Given the description of an element on the screen output the (x, y) to click on. 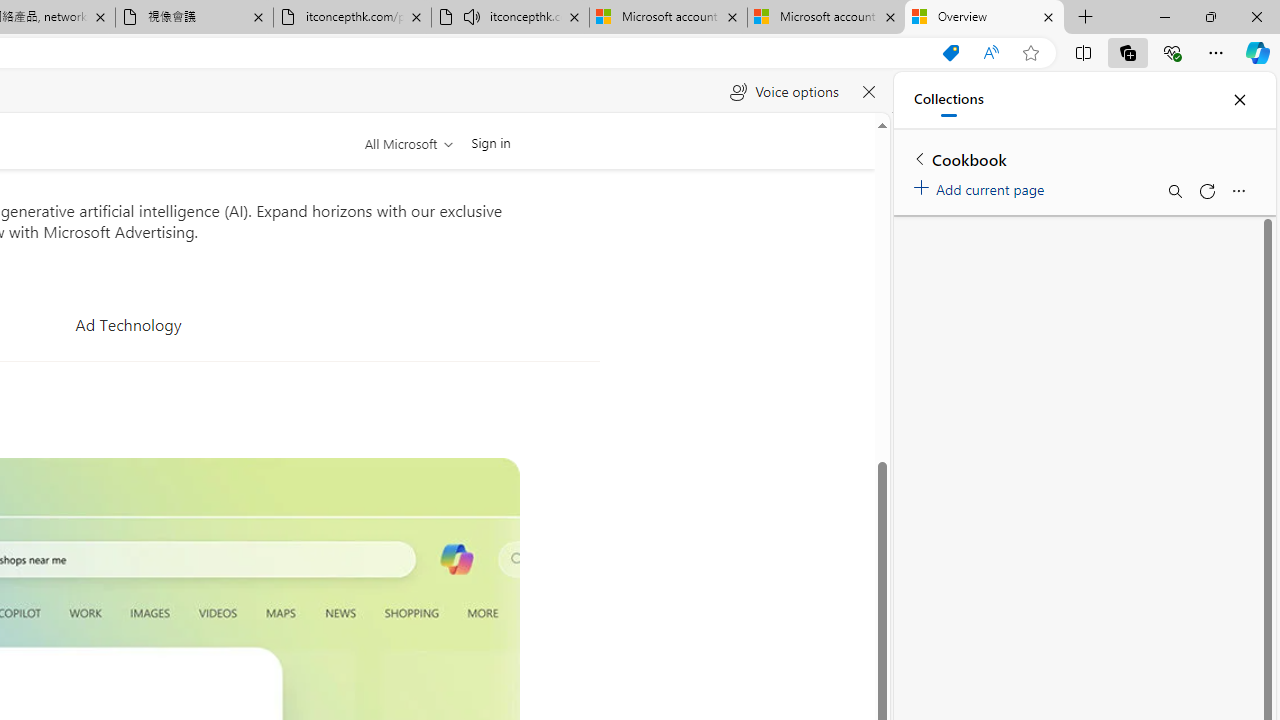
More options menu (1238, 190)
itconcepthk.com/projector_solutions.mp4 (352, 17)
Overview (984, 17)
Sign in (490, 142)
Back to list of collections (920, 158)
itconcepthk.com/projector_solutions.mp4 - Audio playing (509, 17)
Mute tab (471, 16)
